Given the description of an element on the screen output the (x, y) to click on. 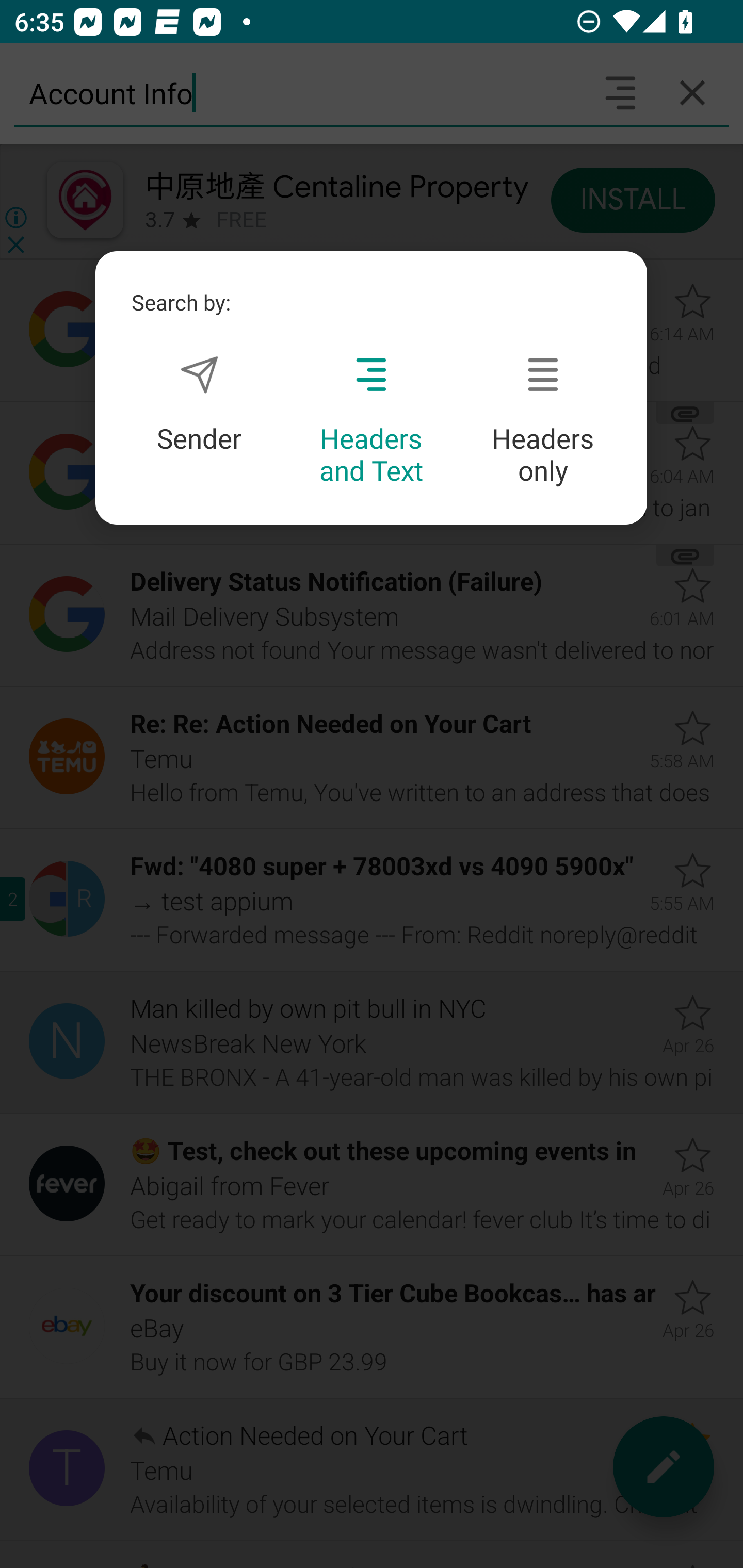
Sender (199, 404)
Headers and Text (371, 420)
Headers only (542, 420)
